Given the description of an element on the screen output the (x, y) to click on. 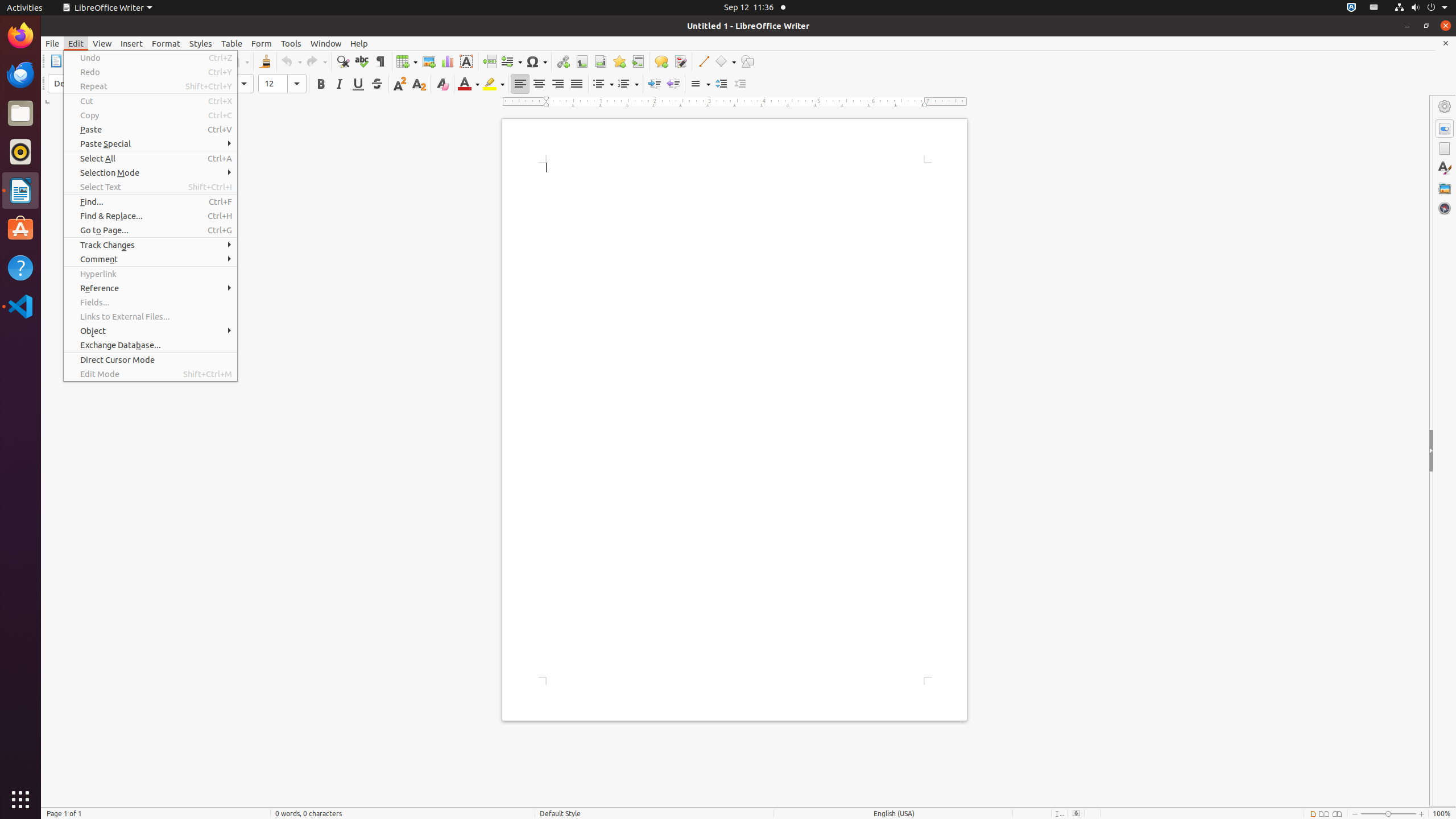
Clear Element type: push-button (441, 83)
LibreOffice Writer Element type: menu (106, 7)
Paste Element type: menu-item (150, 129)
Cross-reference Element type: push-button (637, 61)
Gallery Element type: radio-button (1444, 188)
